Given the description of an element on the screen output the (x, y) to click on. 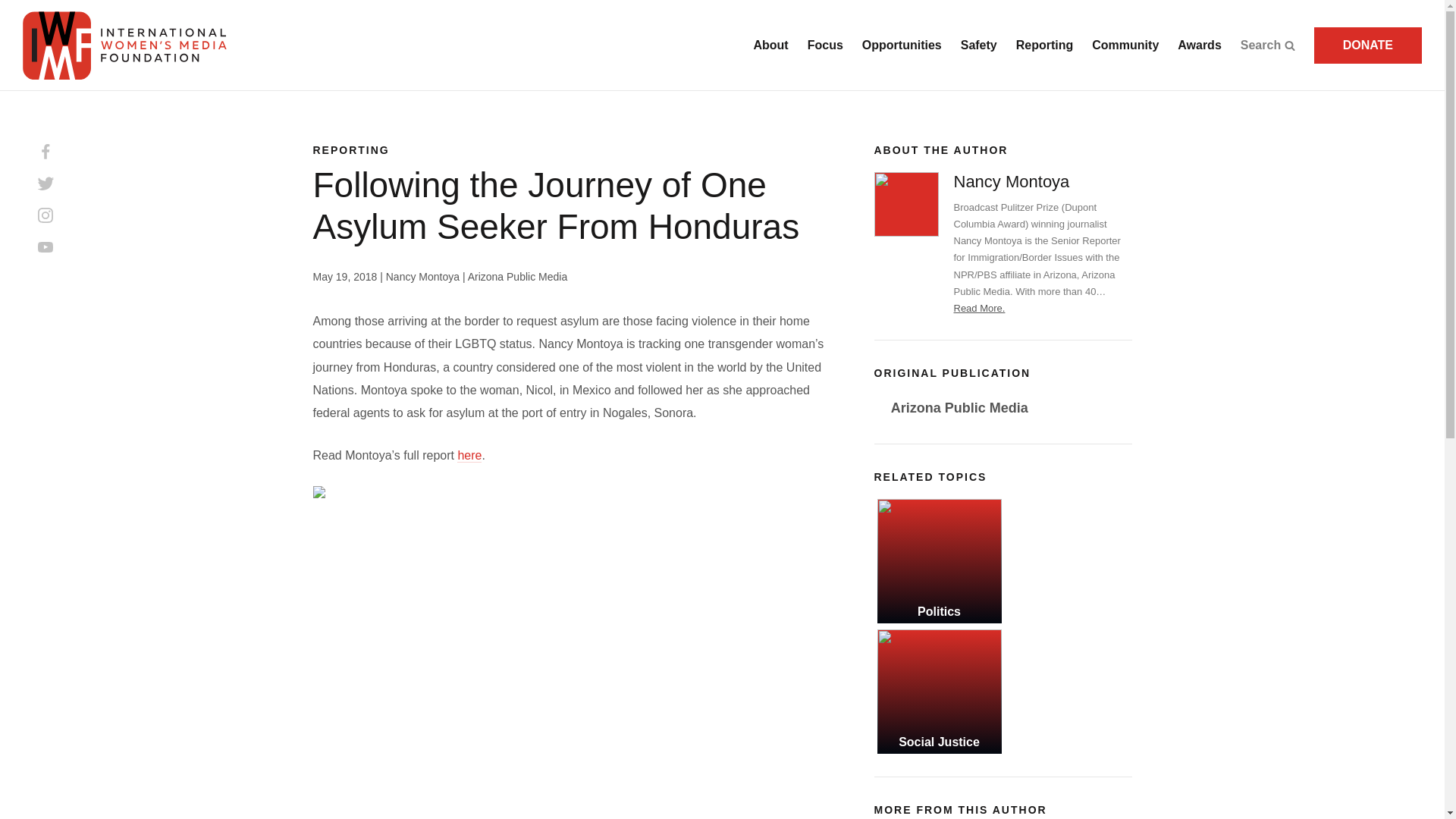
Focus (825, 45)
Opportunities (901, 45)
About (769, 45)
Safety (978, 45)
